Given the description of an element on the screen output the (x, y) to click on. 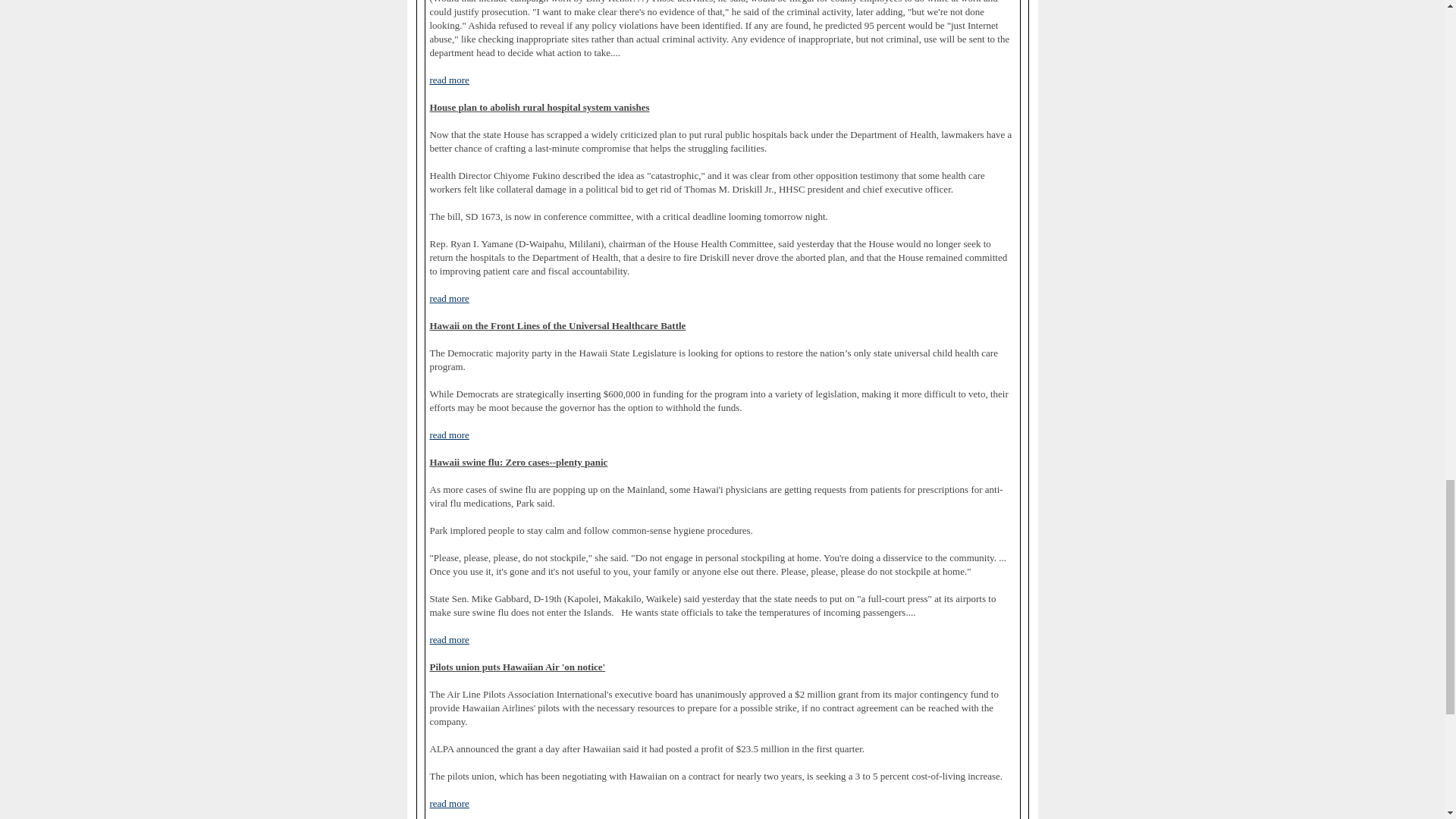
read more (448, 803)
read more (448, 434)
read more (448, 639)
read more (448, 298)
read more (448, 80)
